Given the description of an element on the screen output the (x, y) to click on. 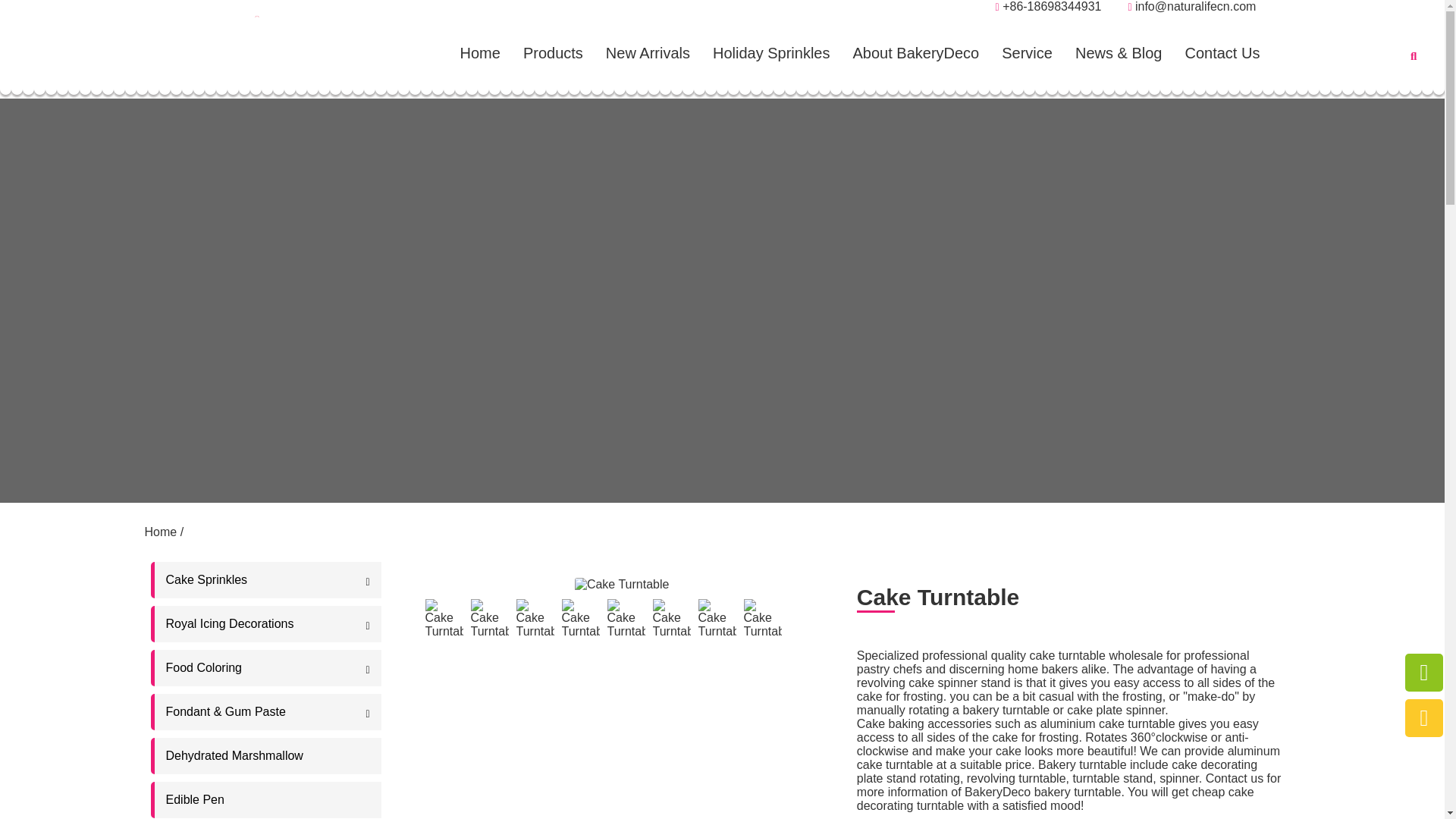
New Arrivals (647, 52)
Cake Turntable (671, 618)
Cake Turntable (579, 618)
Contact Us (1222, 52)
Cake Turntable (489, 618)
About BakeryDeco (915, 52)
Cake Turntable (444, 618)
Cake Turntable (1071, 601)
Cake Turntable (534, 618)
Royal Icing Decorations (267, 623)
